Given the description of an element on the screen output the (x, y) to click on. 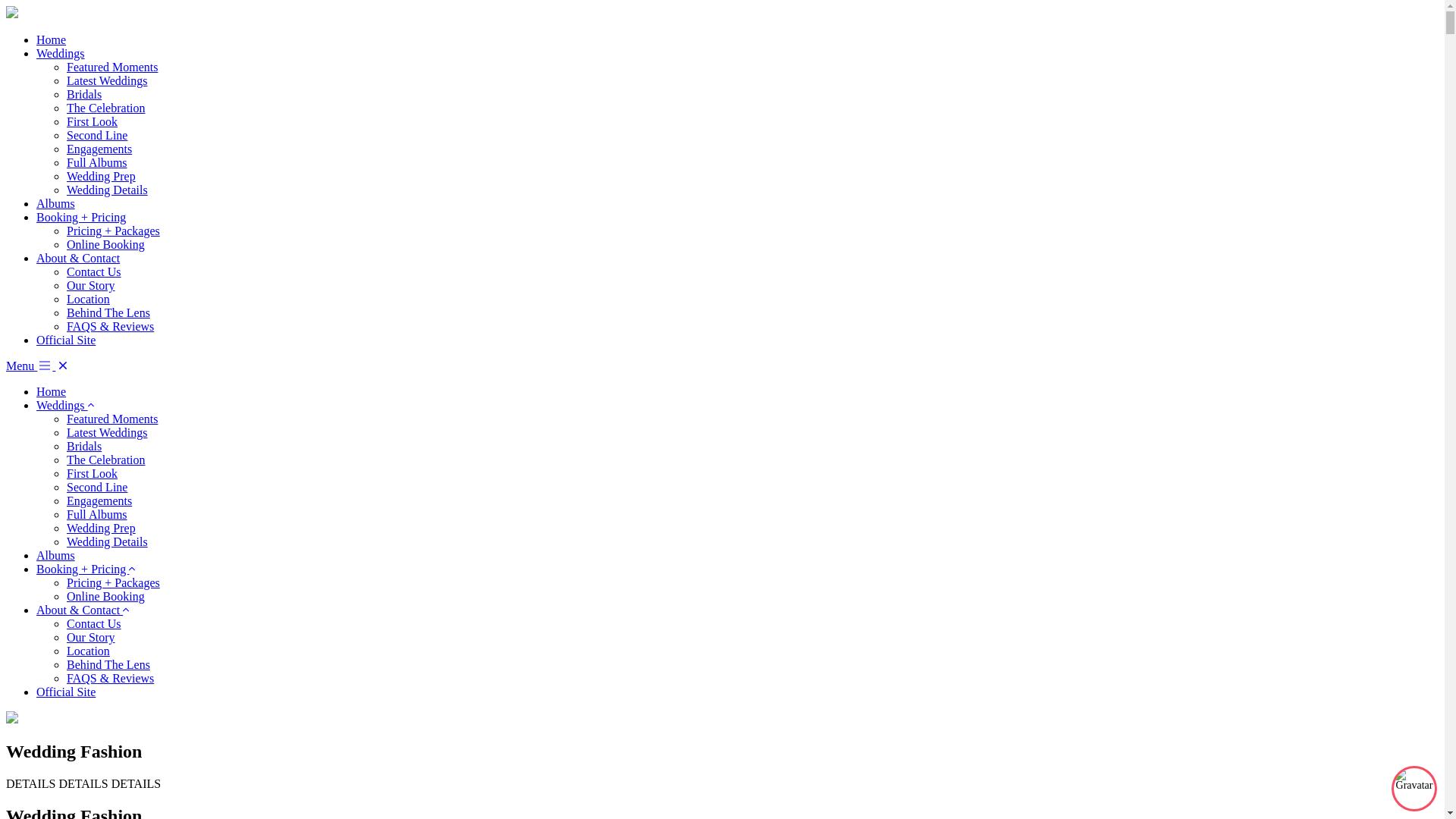
Full Albums Element type: text (96, 162)
First Look Element type: text (91, 473)
Engagements Element type: text (98, 148)
Bridals Element type: text (83, 445)
Contact Us Element type: text (93, 271)
Latest Weddings Element type: text (106, 80)
Online Booking Element type: text (105, 595)
Weddings Element type: text (60, 53)
About & Contact Element type: text (79, 609)
Engagements Element type: text (98, 500)
Our Story Element type: text (90, 636)
Second Line Element type: text (96, 134)
Official Site Element type: text (65, 691)
About & Contact Element type: text (77, 257)
Full Albums Element type: text (96, 514)
Behind The Lens Element type: text (108, 664)
Online Booking Element type: text (105, 244)
Official Site Element type: text (65, 339)
FAQS & Reviews Element type: text (109, 326)
Weddings Element type: text (61, 404)
Bridals Element type: text (83, 93)
Second Line Element type: text (96, 486)
The Celebration Element type: text (105, 459)
Featured Moments Element type: text (111, 418)
Contact Us Element type: text (93, 623)
Menu Element type: text (30, 365)
Latest Weddings Element type: text (106, 432)
Our Story Element type: text (90, 285)
Albums Element type: text (55, 203)
Location Element type: text (87, 298)
The Celebration Element type: text (105, 107)
Wedding Details Element type: text (106, 189)
Location Element type: text (87, 650)
Pricing + Packages Element type: text (113, 582)
First Look Element type: text (91, 121)
Booking + Pricing Element type: text (82, 568)
Booking + Pricing Element type: text (80, 216)
Pricing + Packages Element type: text (113, 230)
Wedding Prep Element type: text (100, 175)
Featured Moments Element type: text (111, 66)
FAQS & Reviews Element type: text (109, 677)
Home Element type: text (50, 39)
Wedding Details Element type: text (106, 541)
Behind The Lens Element type: text (108, 312)
Albums Element type: text (55, 555)
Home Element type: text (50, 391)
Wedding Prep Element type: text (100, 527)
